Given the description of an element on the screen output the (x, y) to click on. 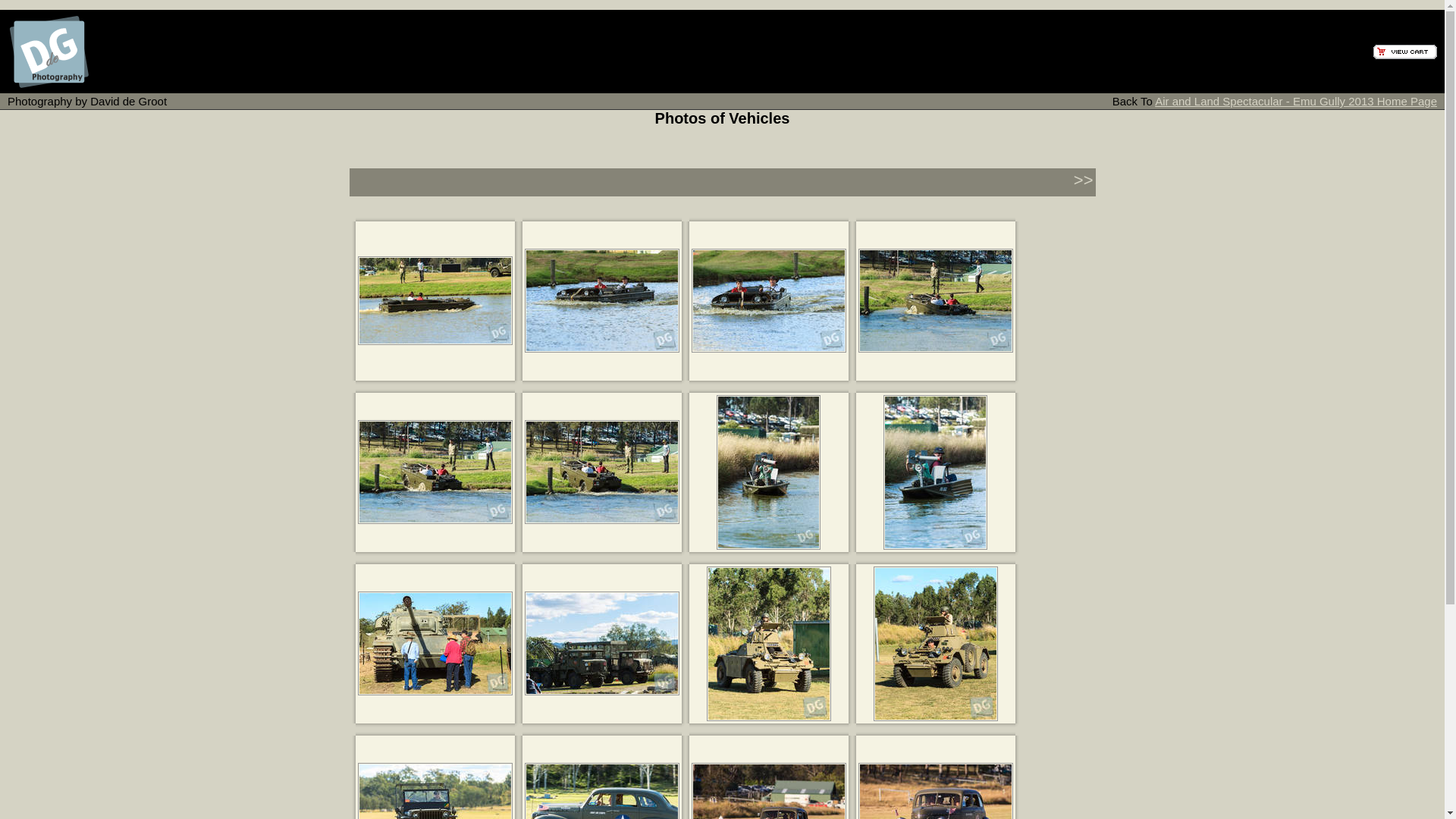
Air and Land Spectacular - Emu Gully 2013 Home Page Element type: text (1295, 100)
>> Element type: text (1083, 179)
